Given the description of an element on the screen output the (x, y) to click on. 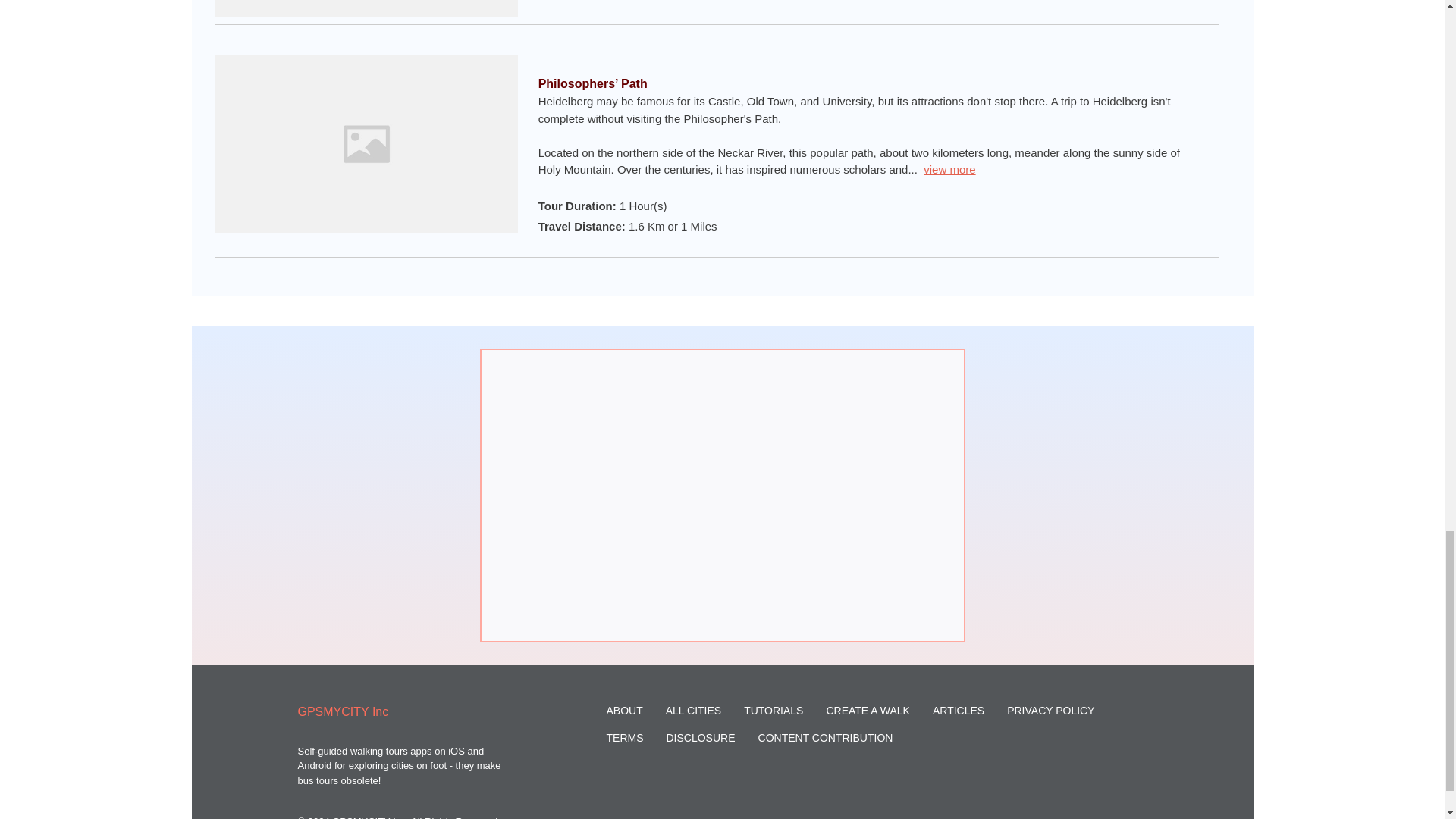
ARTICLES (958, 710)
CREATE A WALK (866, 710)
ALL CITIES (692, 710)
ABOUT (625, 710)
GPSmyCity on Facebook (1107, 796)
GPSmyCity on Pinterest (1142, 796)
TERMS (625, 737)
TUTORIALS (773, 710)
CONTENT CONTRIBUTION (825, 737)
